Given the description of an element on the screen output the (x, y) to click on. 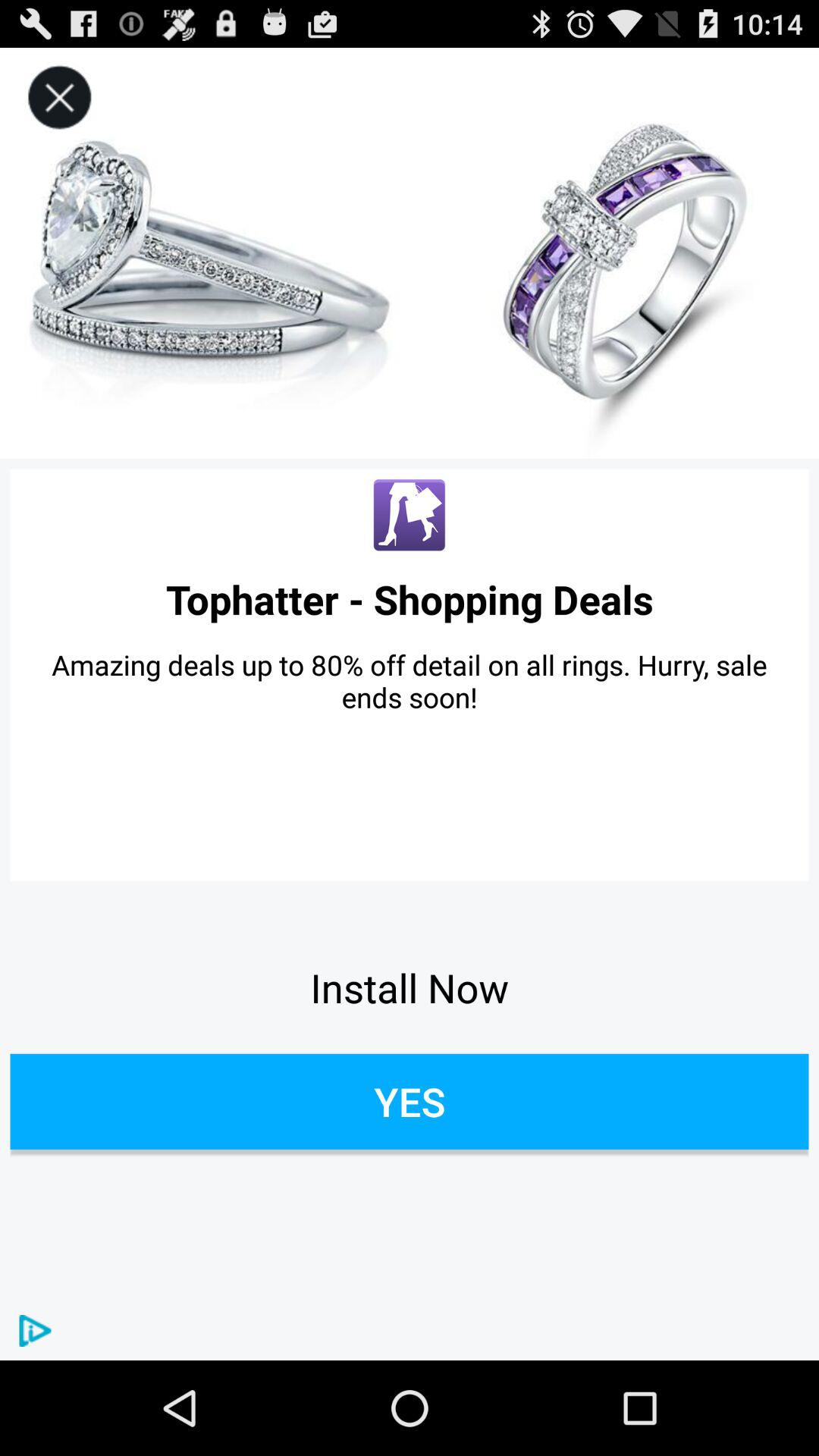
launch the icon at the top left corner (59, 97)
